Given the description of an element on the screen output the (x, y) to click on. 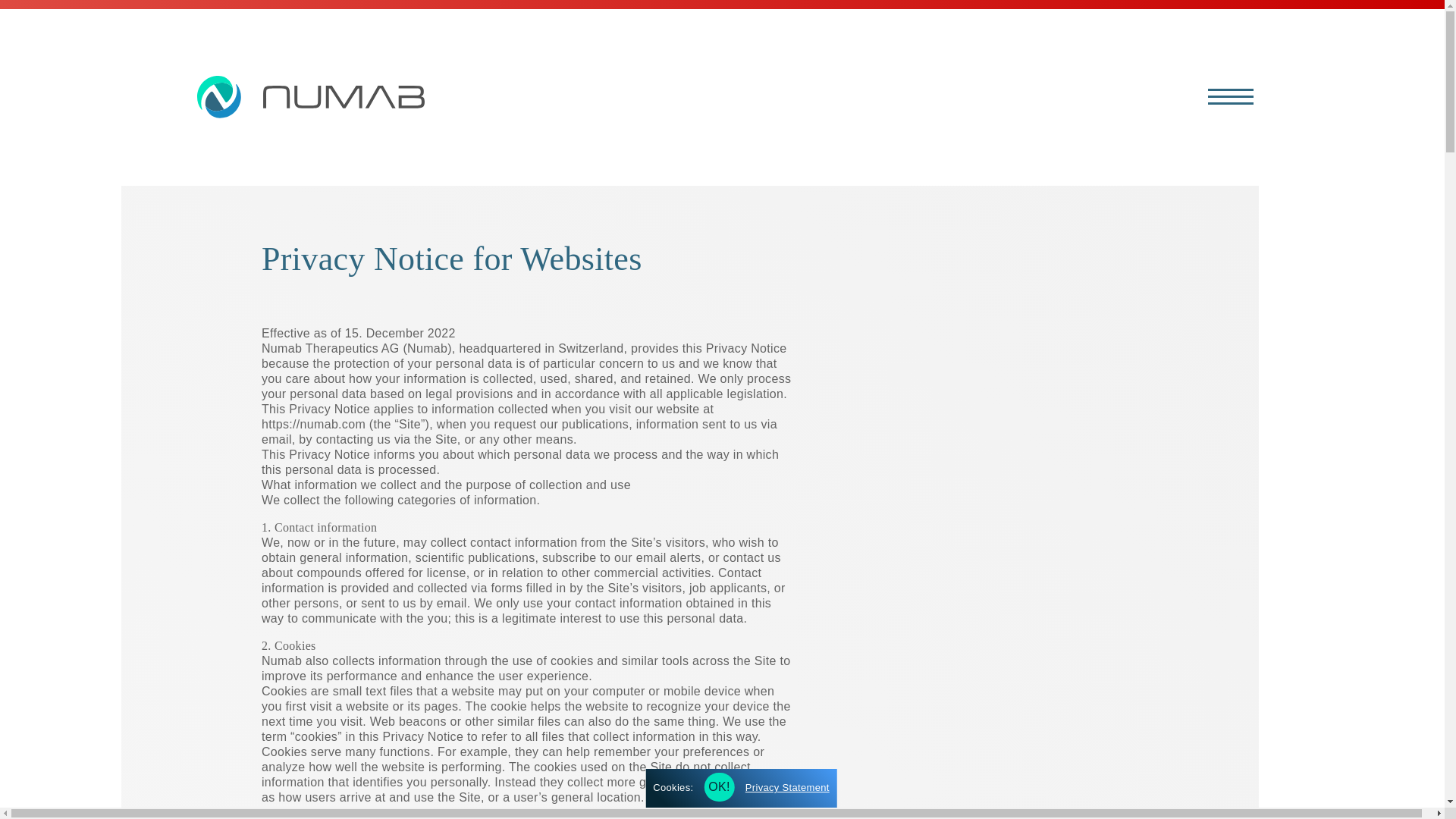
About Us (874, 234)
Investors (874, 444)
Our Science (874, 287)
Personal Data Request (874, 547)
Pipeline (874, 339)
OK! (719, 787)
Privacy Statement (874, 562)
News (874, 391)
Privacy Statement (787, 787)
Careers (874, 496)
